Given the description of an element on the screen output the (x, y) to click on. 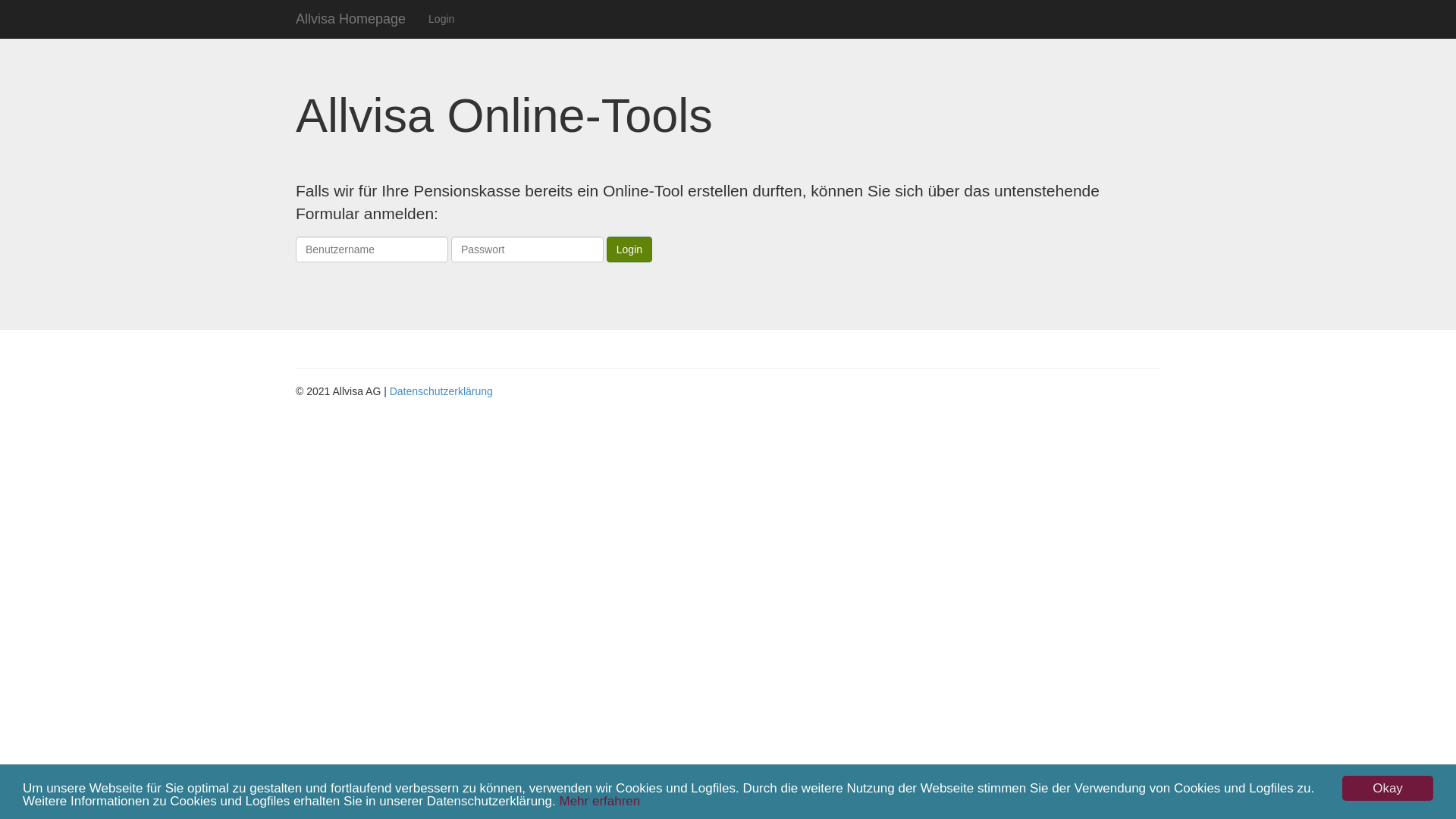
Mehr erfahren Element type: text (599, 800)
Login Element type: text (441, 18)
Okay Element type: text (1387, 787)
Login Element type: text (629, 249)
Allvisa Homepage Element type: text (350, 18)
